Given the description of an element on the screen output the (x, y) to click on. 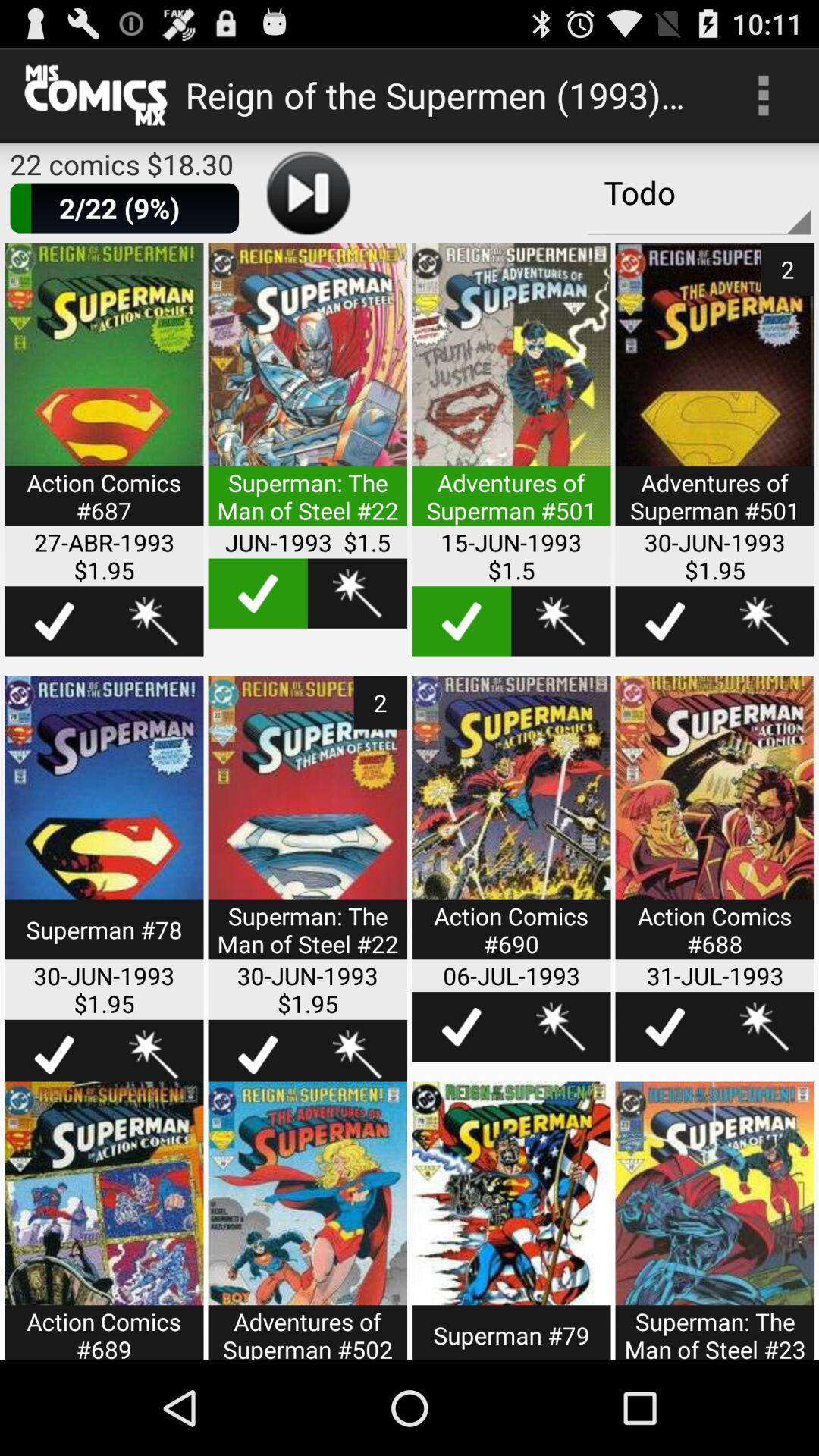
share the article (560, 621)
